Given the description of an element on the screen output the (x, y) to click on. 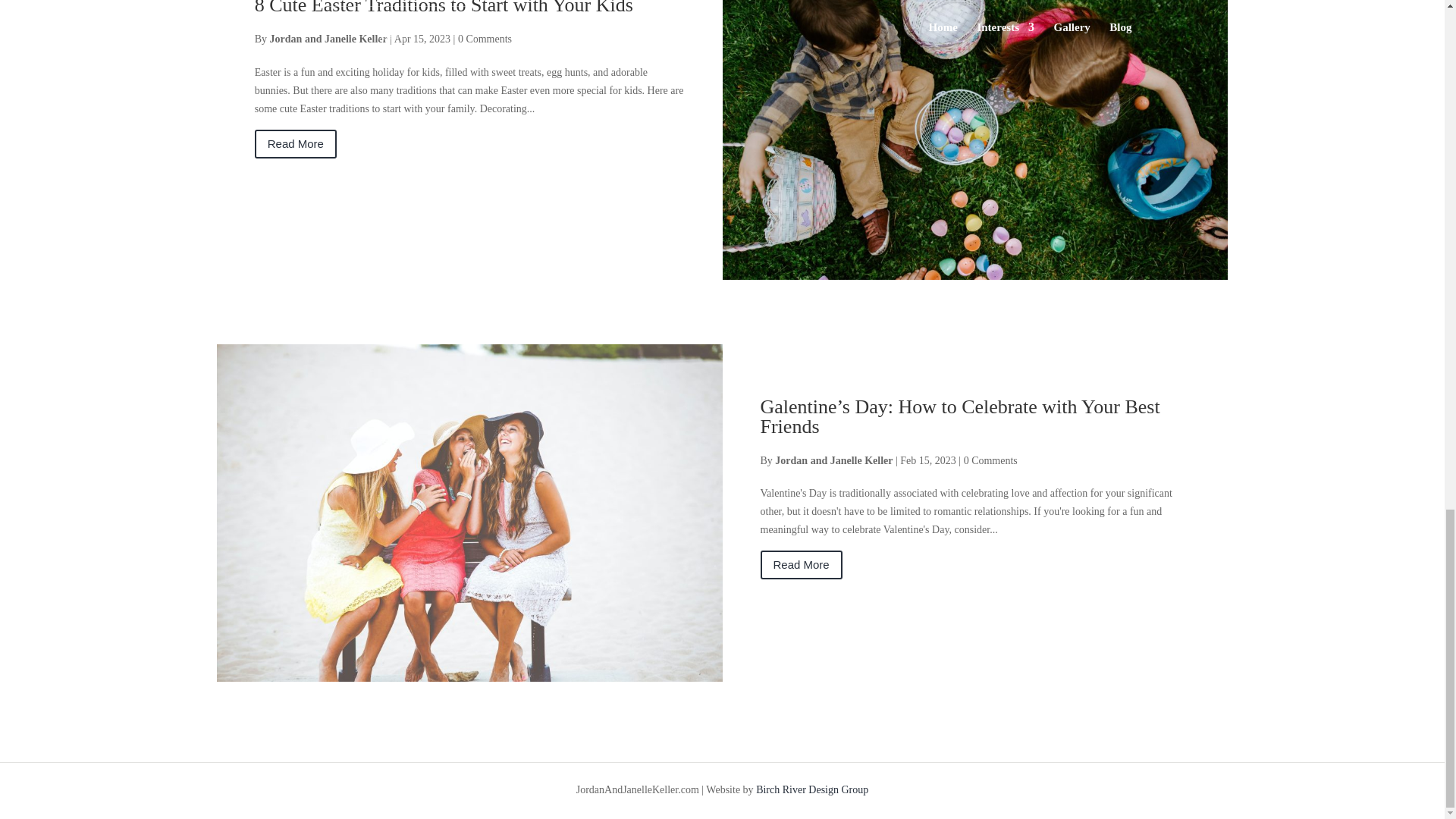
Posts by Jordan and Janelle Keller (328, 39)
Posts by Jordan and Janelle Keller (833, 460)
Read More (800, 564)
Birch River Design Group (811, 789)
Jordan and Janelle Keller (328, 39)
Jordan and Janelle Keller (833, 460)
8 Cute Easter Traditions to Start with Your Kids (443, 7)
Read More (295, 143)
